Given the description of an element on the screen output the (x, y) to click on. 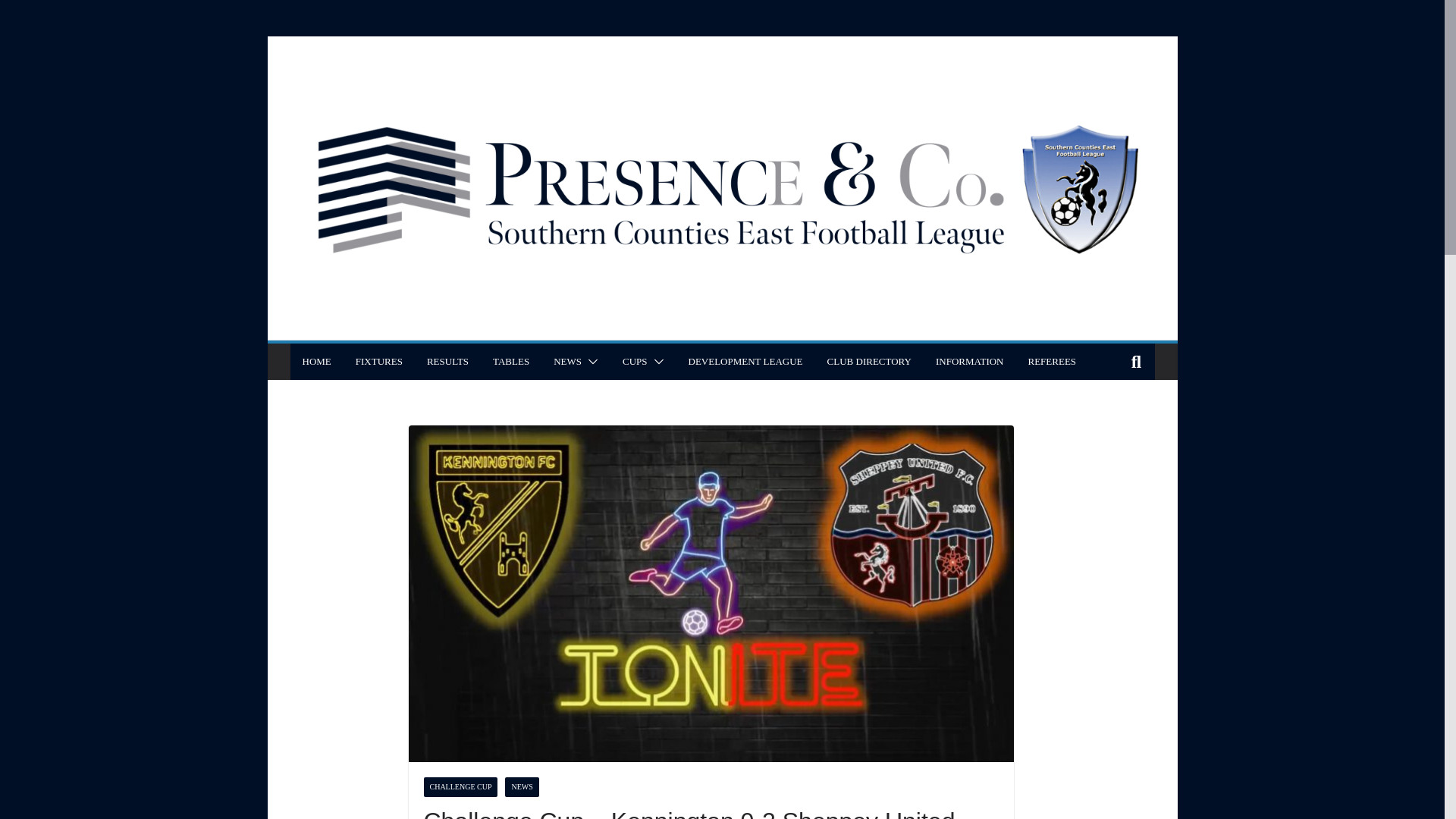
DEVELOPMENT LEAGUE (745, 361)
NEWS (566, 361)
RESULTS (447, 361)
INFORMATION (970, 361)
HOME (315, 361)
NEWS (521, 786)
REFEREES (1052, 361)
TABLES (511, 361)
FIXTURES (379, 361)
SCEFL (721, 46)
